Given the description of an element on the screen output the (x, y) to click on. 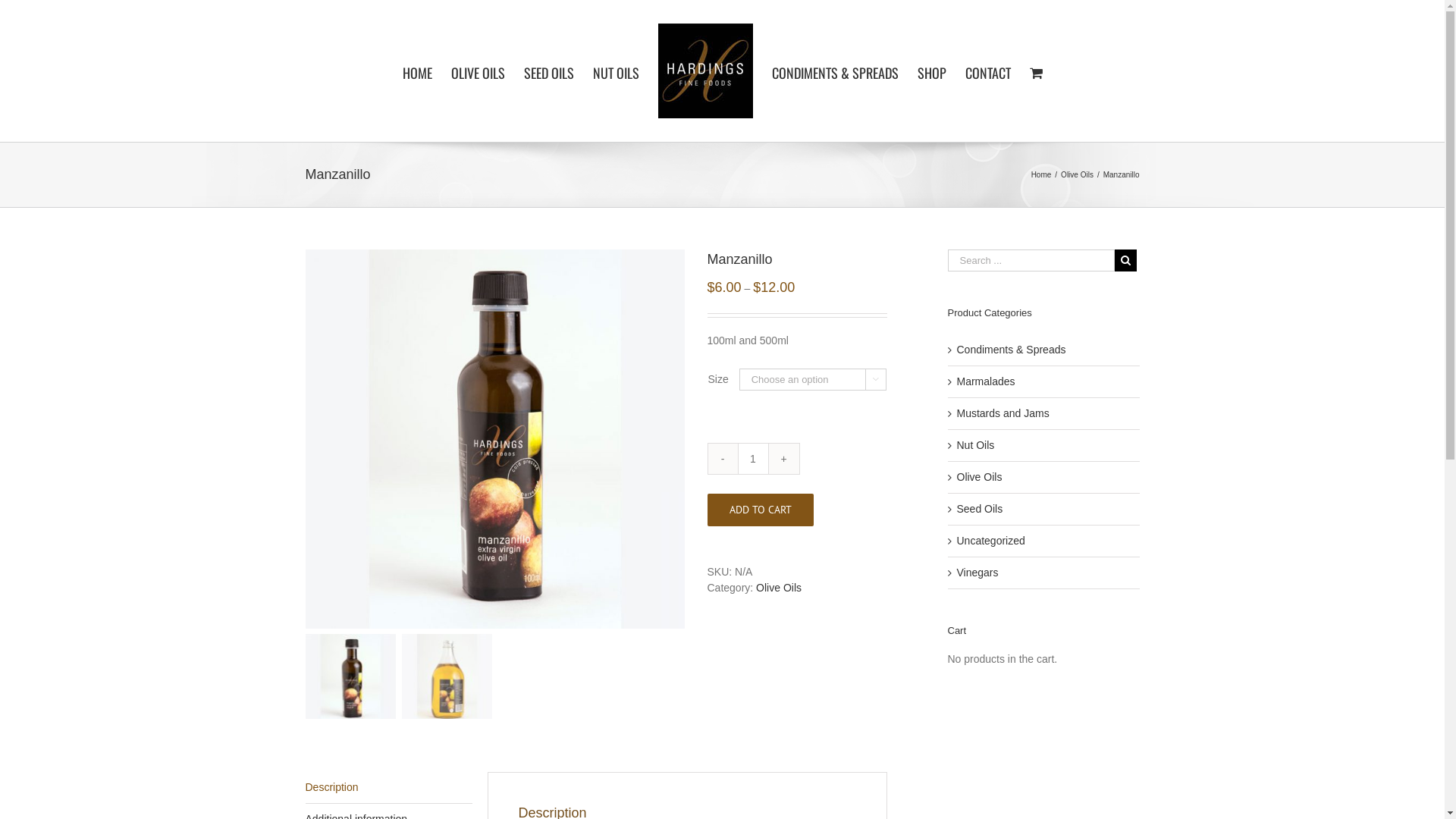
CONTACT Element type: text (987, 71)
Nut Oils Element type: text (975, 444)
Marmalades Element type: text (986, 381)
SEED OILS Element type: text (548, 71)
SHOP Element type: text (931, 71)
Uncategorized Element type: text (991, 540)
Qty Element type: hover (753, 458)
Vinegars Element type: text (977, 572)
Home Element type: text (1041, 174)
HOME Element type: text (416, 71)
Olive Oils Element type: text (979, 476)
Olive Oils Element type: text (1076, 174)
NUT OILS Element type: text (616, 71)
Mustards and Jams Element type: text (1003, 412)
OLIVE OILS Element type: text (477, 71)
Olive Oils Element type: text (778, 587)
Description Element type: text (387, 787)
Manzanillo Element type: hover (494, 438)
Condiments & Spreads Element type: text (1011, 349)
CONDIMENTS & SPREADS Element type: text (834, 71)
Seed Oils Element type: text (980, 508)
ADD TO CART Element type: text (759, 509)
